Given the description of an element on the screen output the (x, y) to click on. 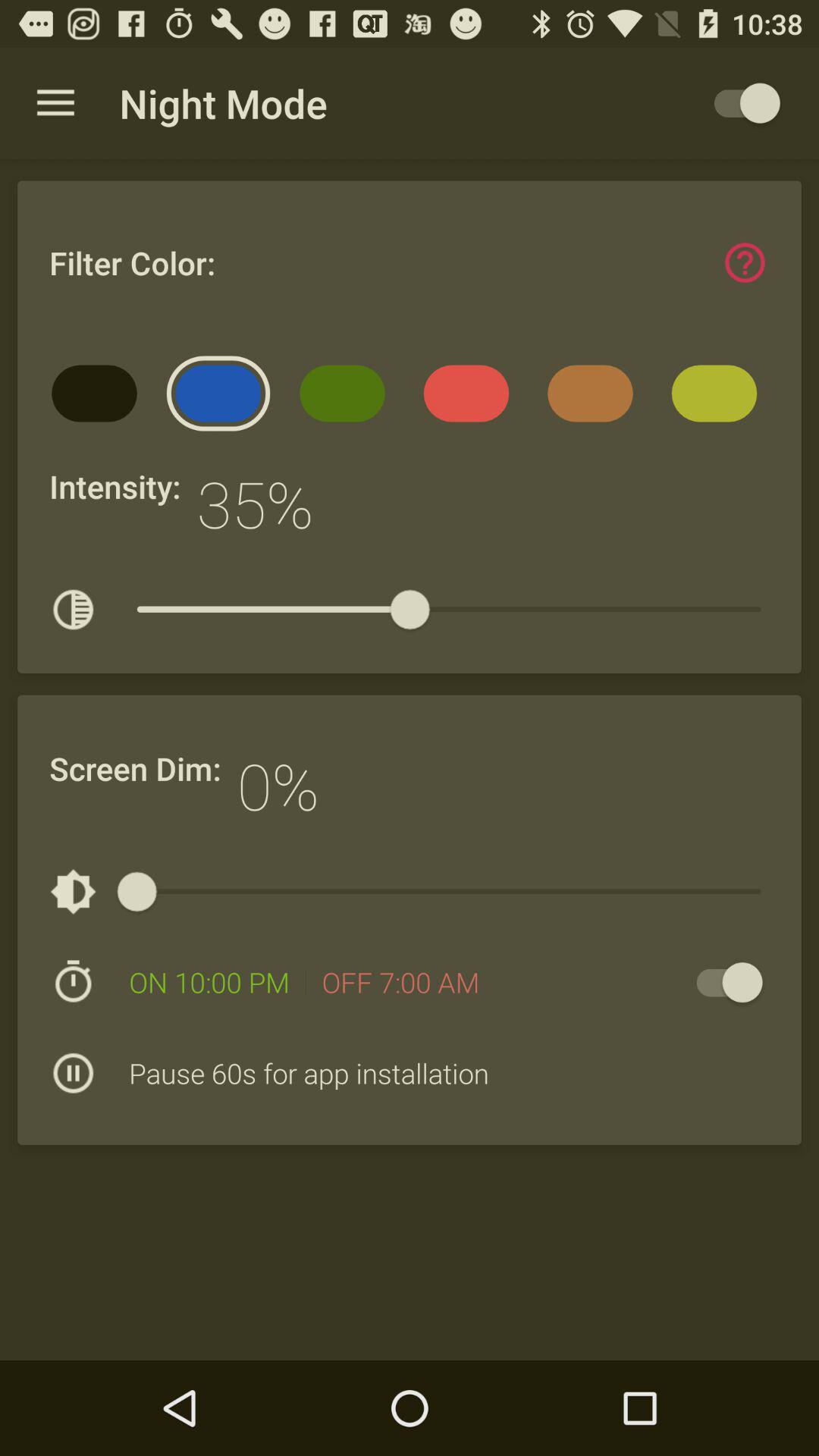
launch the item above the 35% (347, 398)
